Given the description of an element on the screen output the (x, y) to click on. 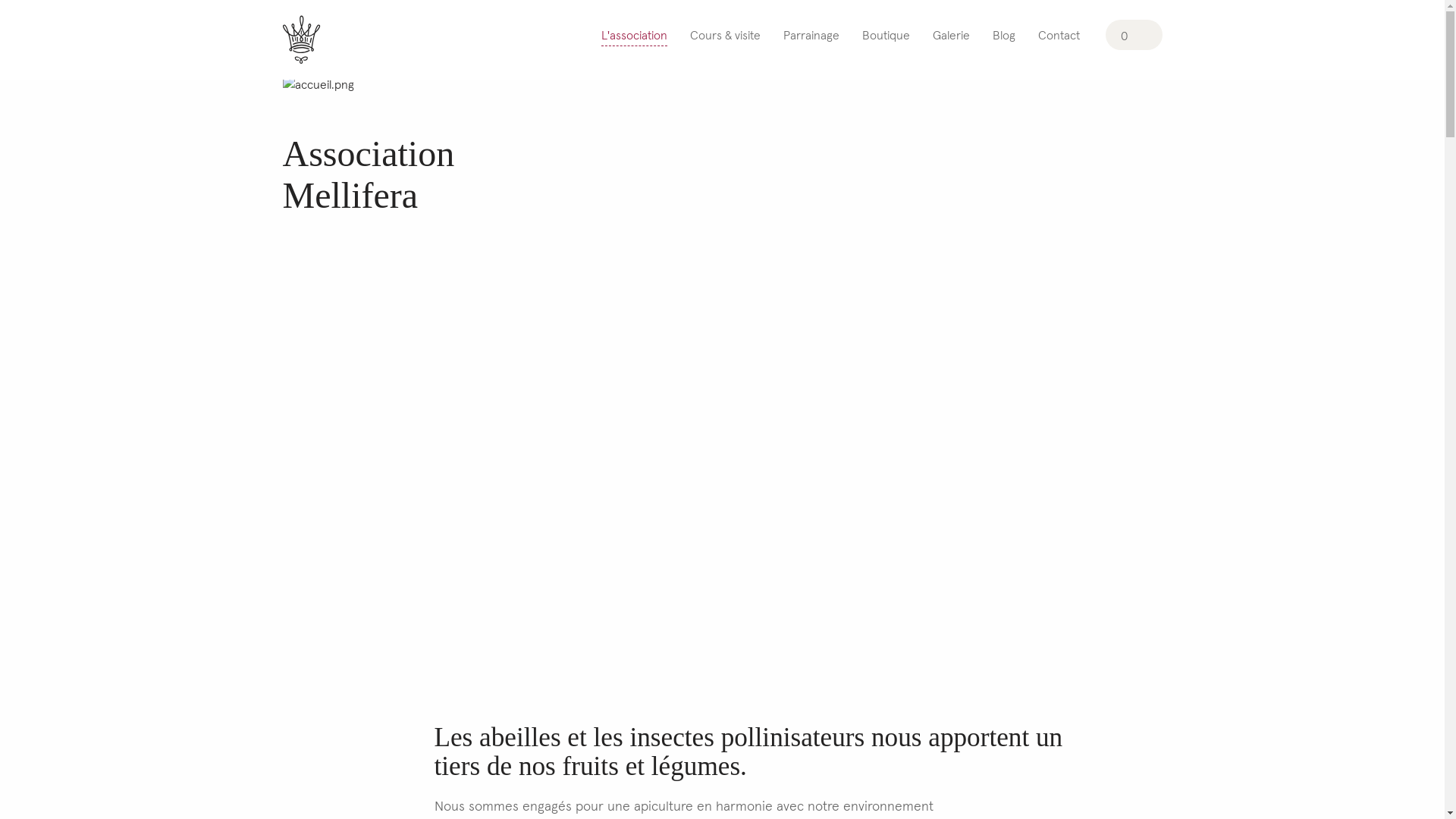
Parrainage Element type: text (810, 36)
Blog Element type: text (1002, 36)
Contact Element type: text (1058, 36)
0 Element type: text (1133, 36)
L'association Element type: text (633, 36)
Boutique Element type: text (885, 36)
Galerie Element type: text (950, 36)
Cours & visite Element type: text (725, 36)
